Given the description of an element on the screen output the (x, y) to click on. 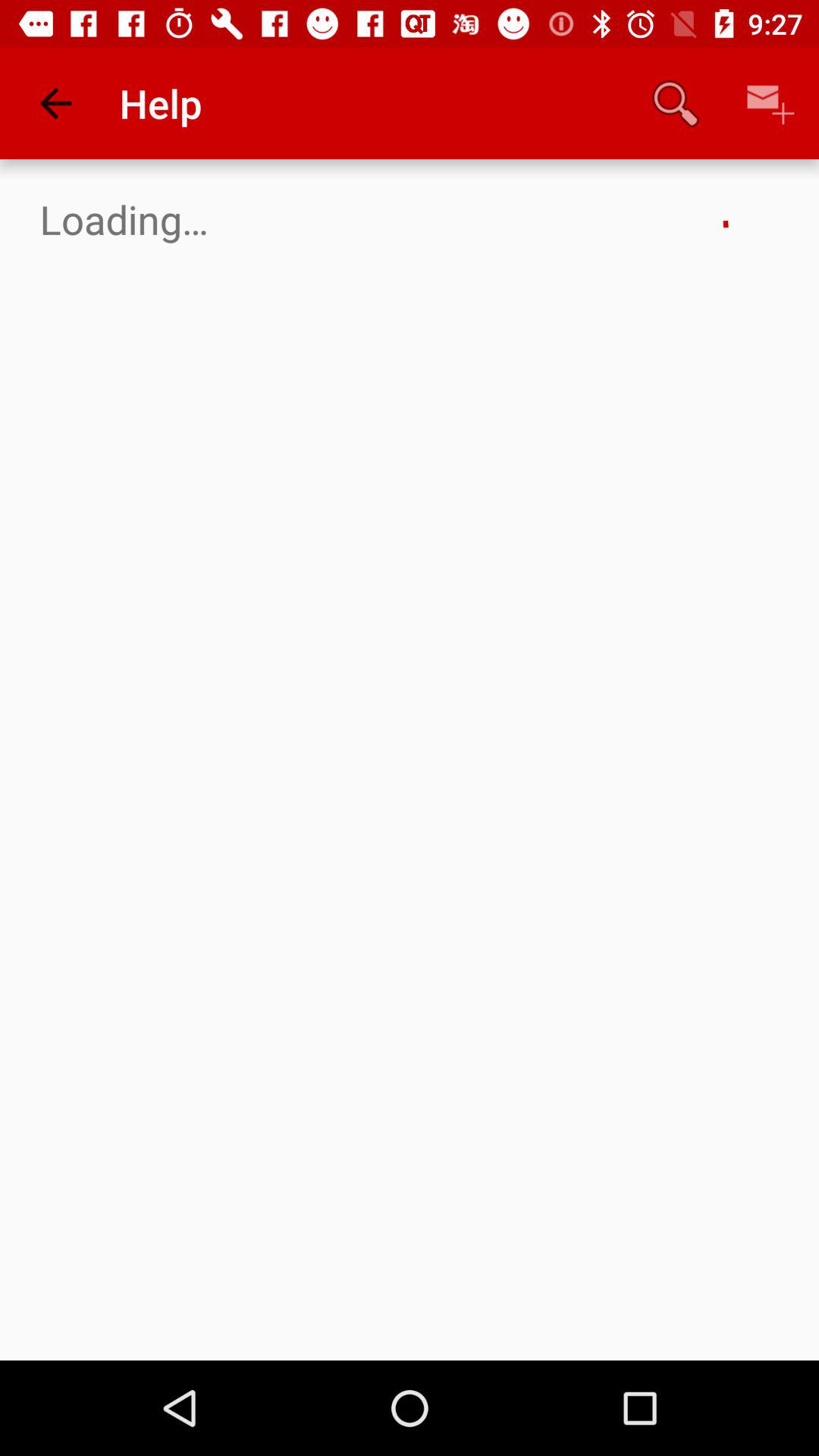
select app to the left of the help item (55, 103)
